Given the description of an element on the screen output the (x, y) to click on. 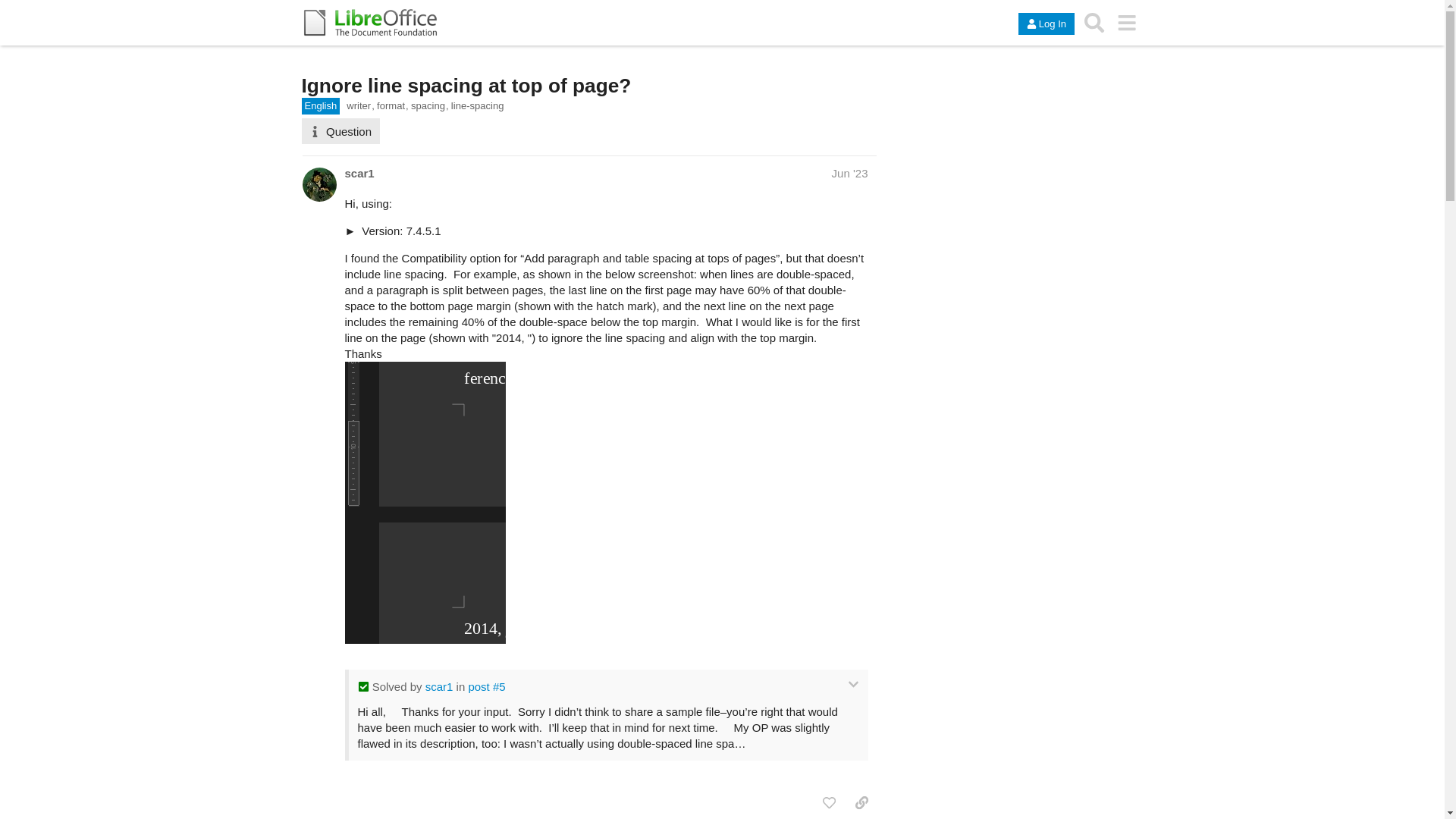
scar1 (438, 686)
menu (1126, 22)
Log In (1045, 24)
line-spacing (477, 106)
Ignore line spacing at top of page? (466, 85)
format (393, 106)
spacing (429, 106)
writer (360, 106)
Jun 25, 2023 3:25 pm (849, 173)
Question (340, 130)
Jun '23 (849, 173)
Search (1094, 22)
scar1 (358, 172)
like this post (829, 802)
